Given the description of an element on the screen output the (x, y) to click on. 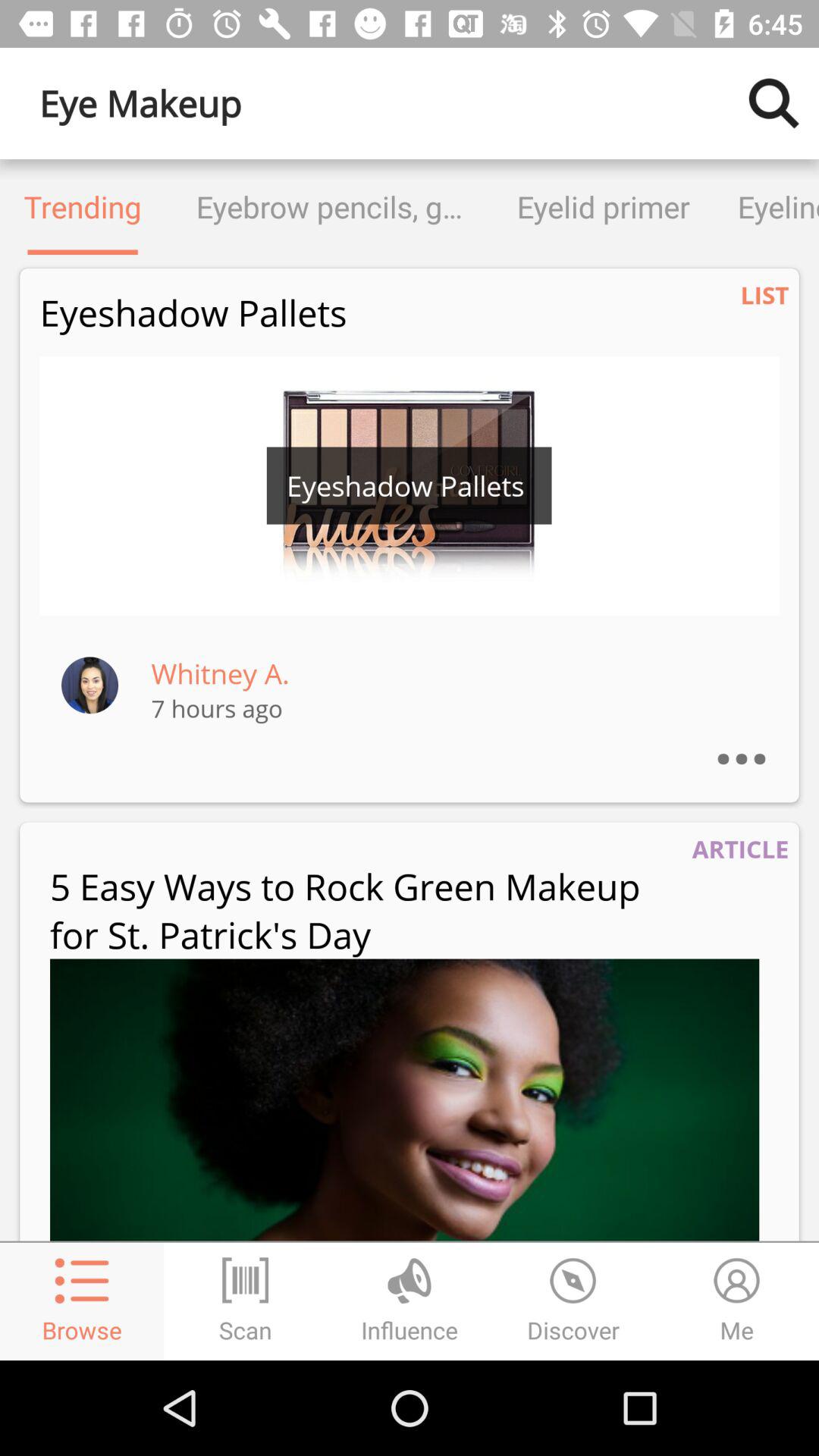
tap the eyebrow pencils gels item (329, 206)
